Given the description of an element on the screen output the (x, y) to click on. 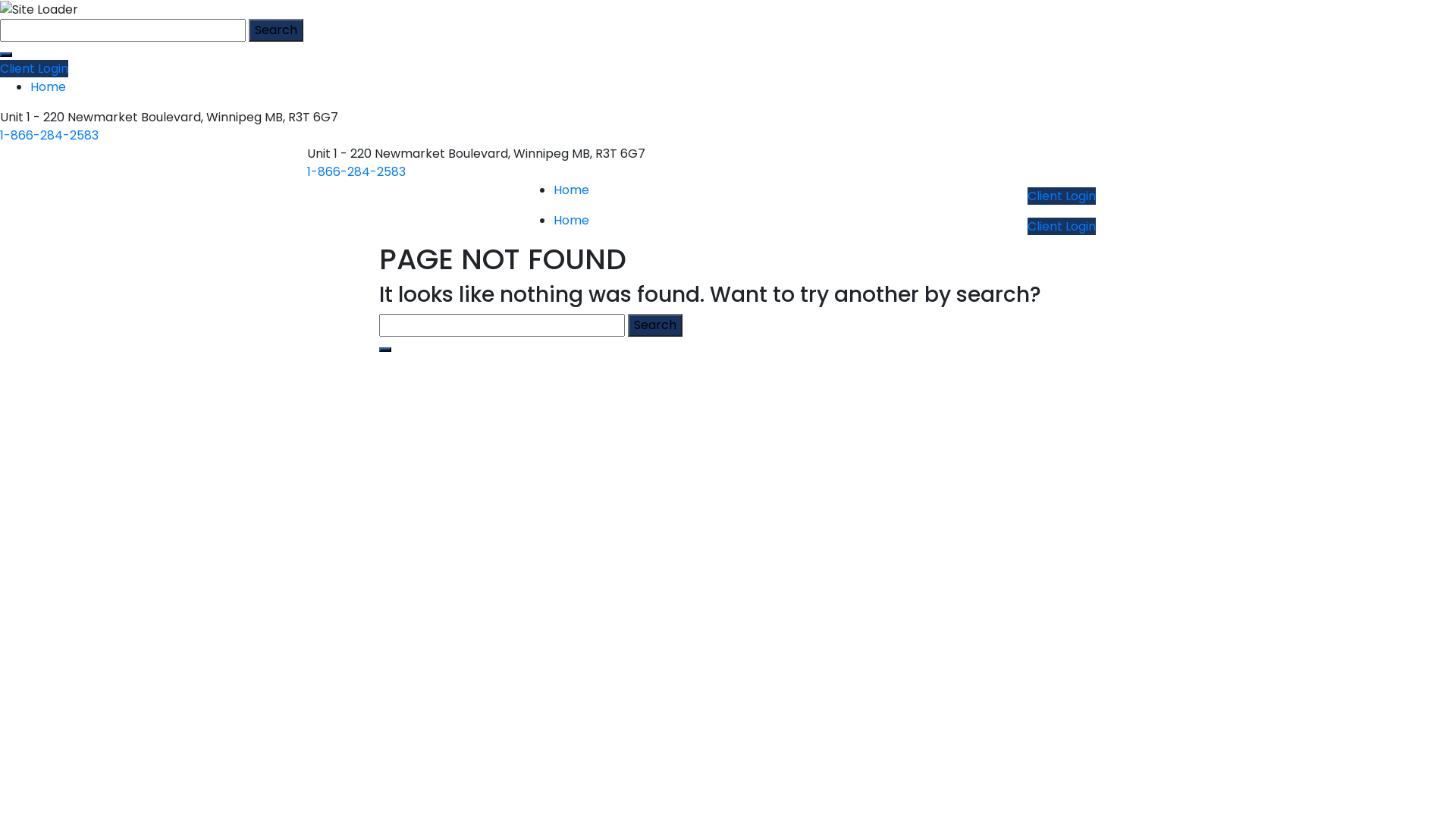
Home Element type: text (571, 220)
Search Element type: text (275, 29)
Client Login Element type: text (34, 68)
Client Login Element type: text (1061, 195)
Search Element type: text (654, 324)
1-866-284-2583 Element type: text (356, 171)
Home Element type: text (47, 86)
Home Element type: text (571, 189)
1-866-284-2583 Element type: text (49, 135)
Client Login Element type: text (1061, 226)
